Given the description of an element on the screen output the (x, y) to click on. 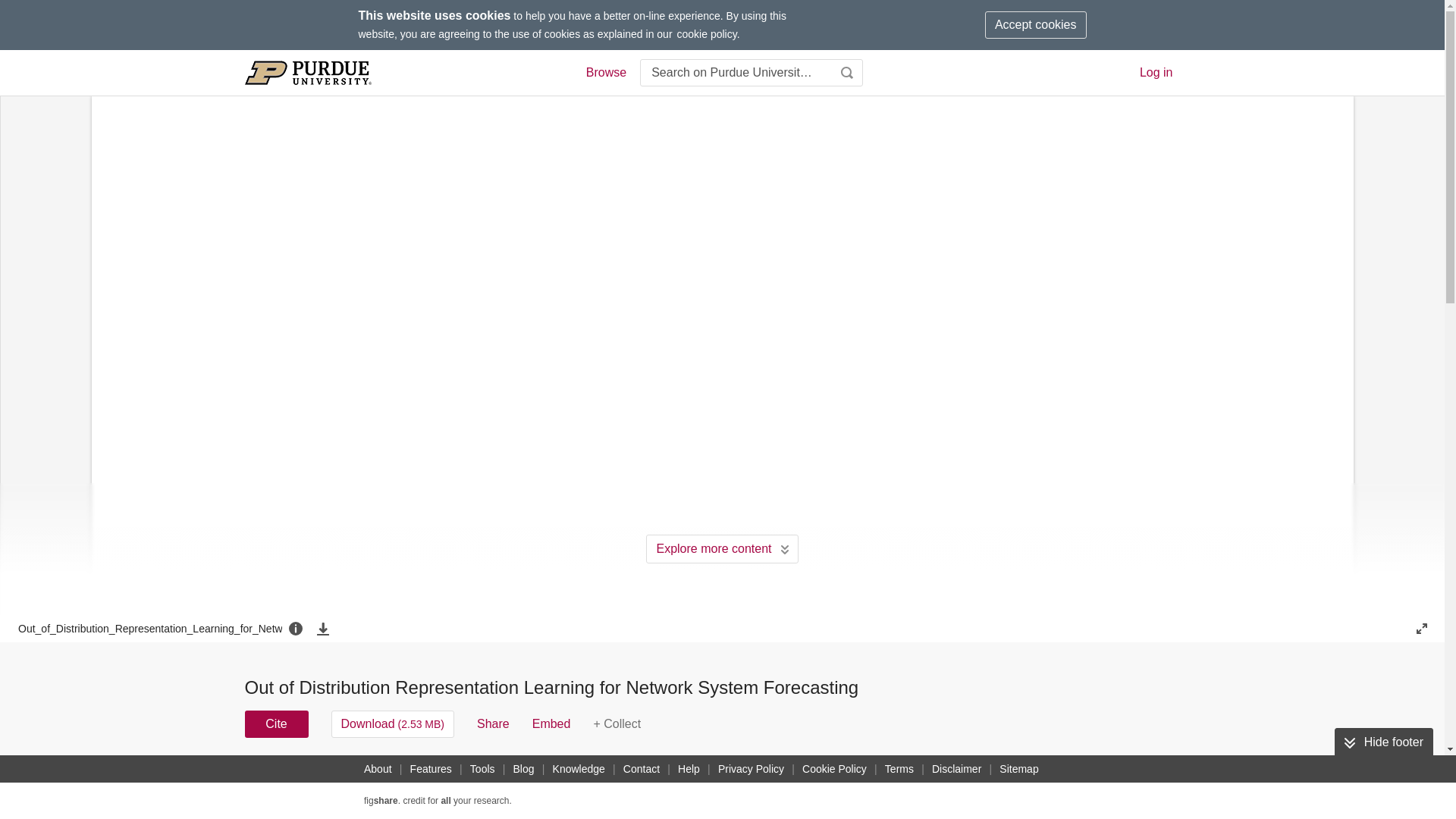
Share (493, 723)
Log in (1156, 72)
Features (431, 769)
USAGE METRICS (976, 778)
Embed (551, 723)
Accept cookies (1035, 24)
Hide footer (1383, 742)
Browse (605, 72)
you need to log in first (616, 723)
